Given the description of an element on the screen output the (x, y) to click on. 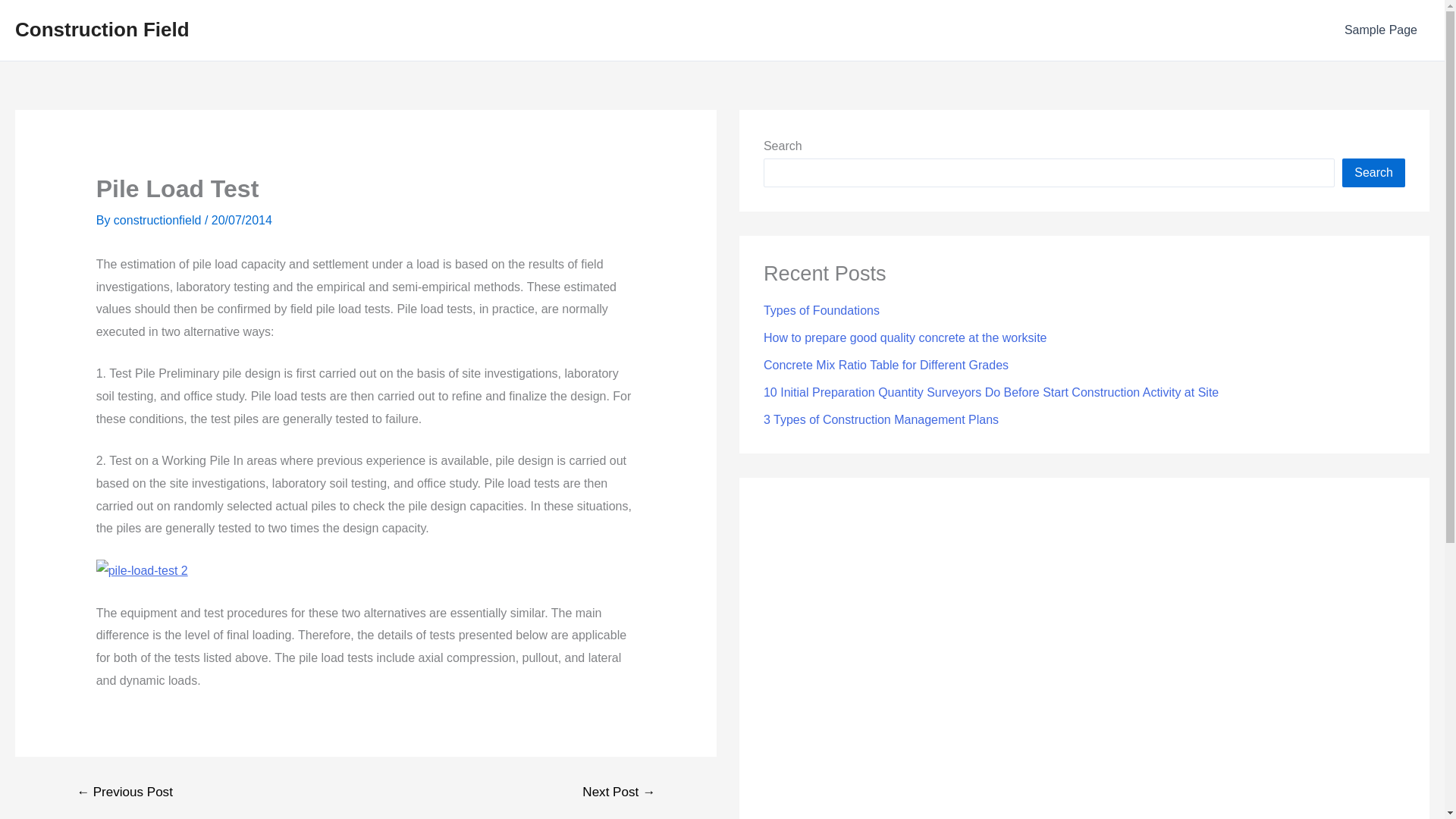
Types of Foundations (820, 309)
3 Types of Construction Management Plans (880, 419)
Search (1373, 172)
Construction Field (101, 29)
Sample Page (1380, 30)
constructionfield (159, 219)
View all posts by constructionfield (159, 219)
Concrete Mix Ratio Table for Different Grades (885, 364)
How to prepare good quality concrete at the worksite (904, 337)
